Given the description of an element on the screen output the (x, y) to click on. 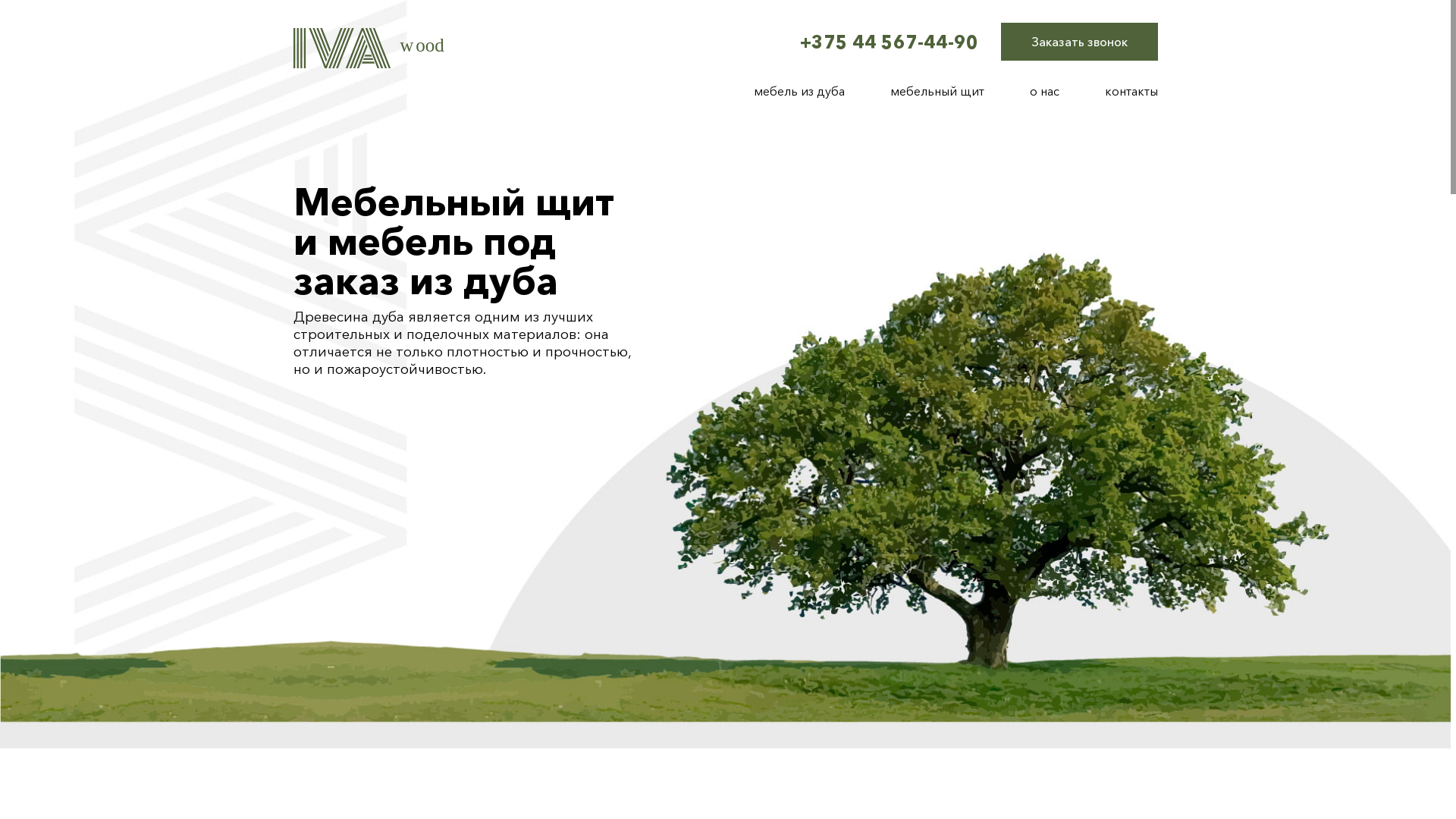
+375 44 567-44-90 Element type: text (888, 41)
